Given the description of an element on the screen output the (x, y) to click on. 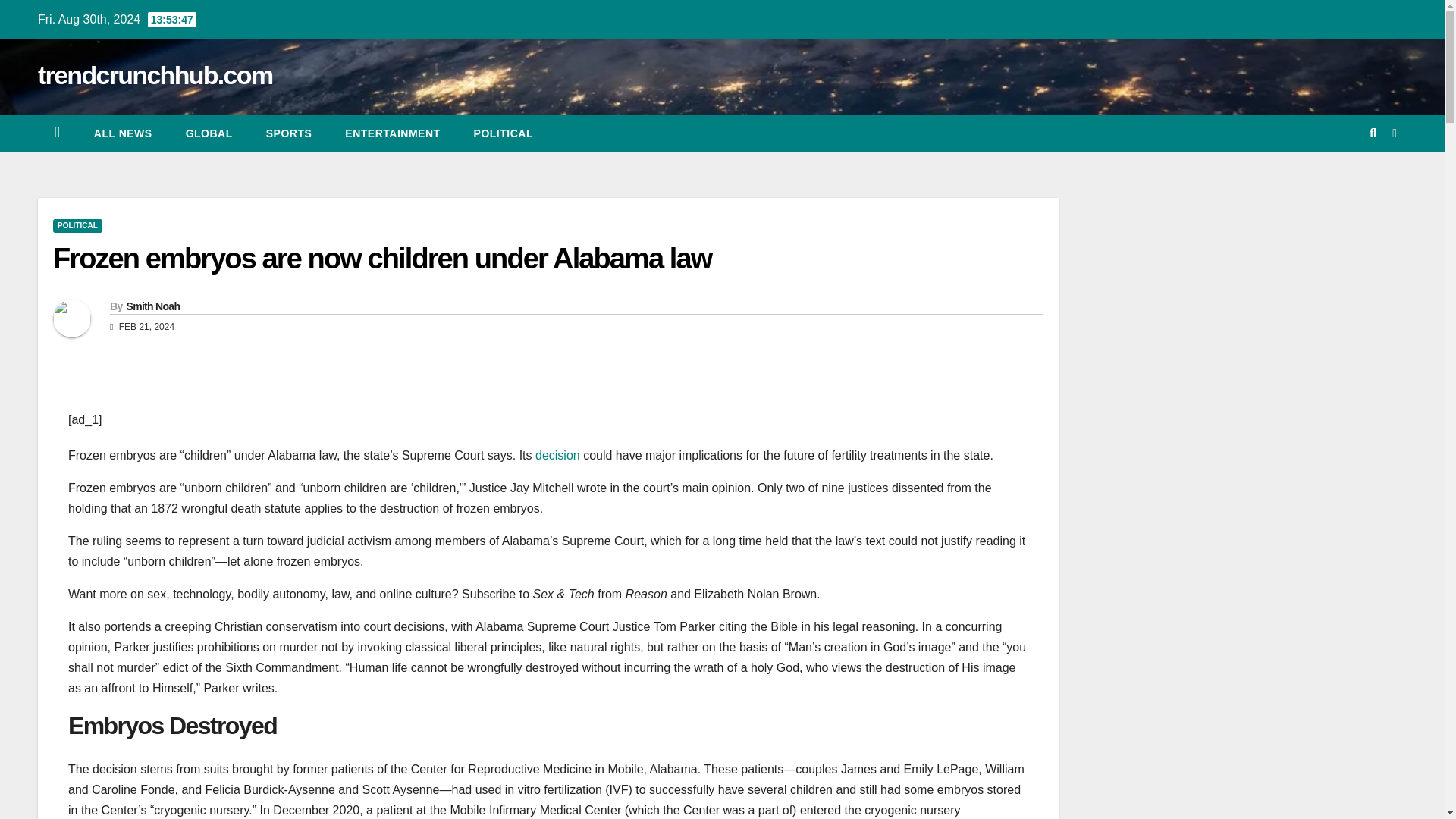
GLOBAL (208, 133)
POLITICAL (503, 133)
ENTERTAINMENT (393, 133)
Smith Noah (152, 306)
ALL NEWS (122, 133)
trendcrunchhub.com (154, 74)
decision (557, 454)
POLITICAL (76, 225)
entertainment (393, 133)
